Given the description of an element on the screen output the (x, y) to click on. 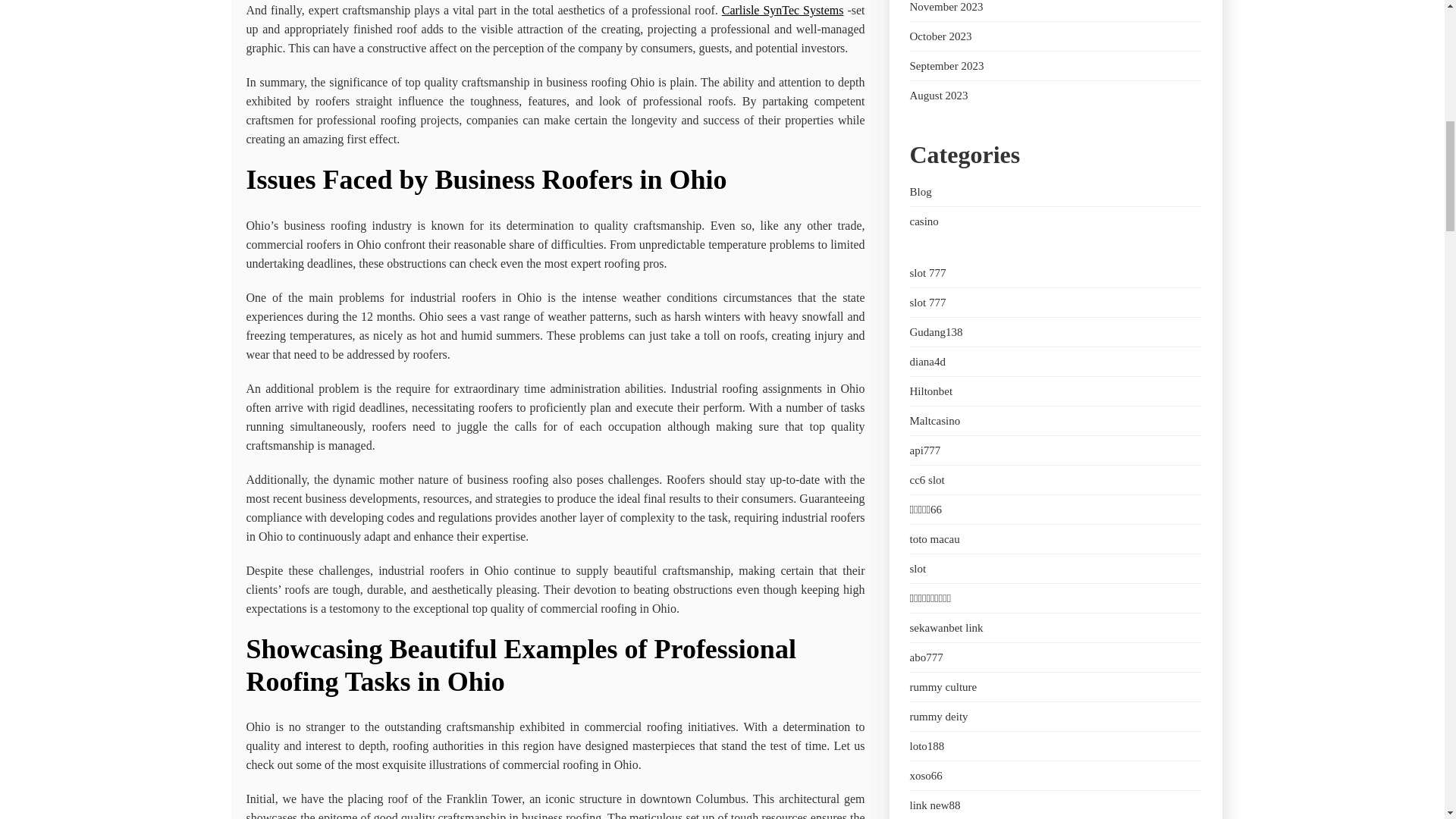
September 2023 (947, 65)
Blog (920, 191)
diana4d (927, 361)
Carlisle SynTec Systems (783, 10)
October 2023 (941, 36)
August 2023 (939, 95)
slot 777 (928, 302)
casino (924, 221)
Gudang138 (936, 331)
slot 777 (928, 272)
November 2023 (947, 6)
